Given the description of an element on the screen output the (x, y) to click on. 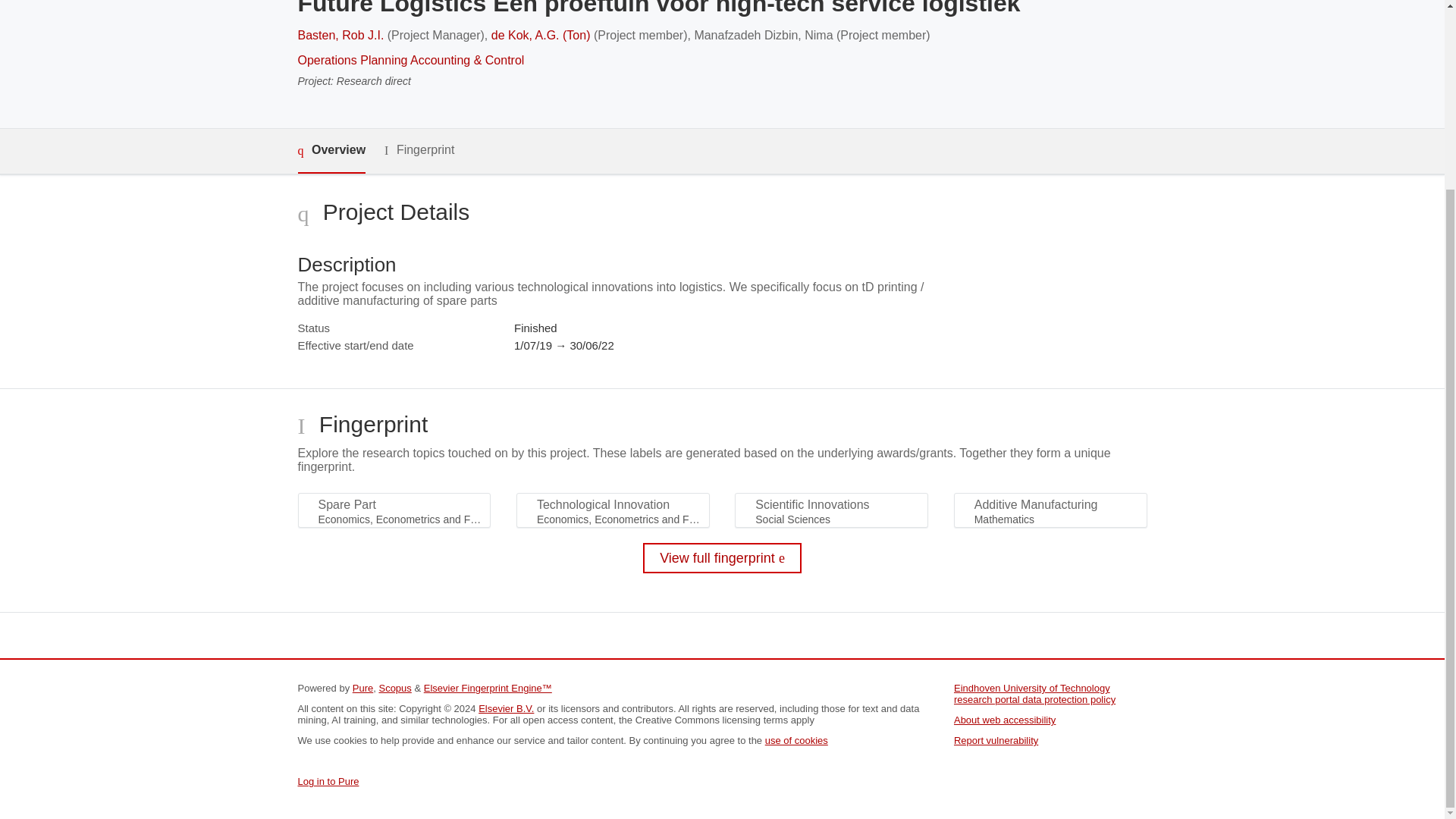
Scopus (394, 687)
use of cookies (796, 740)
Elsevier B.V. (506, 708)
View full fingerprint (722, 557)
Overview (331, 150)
Pure (362, 687)
Fingerprint (419, 149)
Basten, Rob J.I. (340, 34)
